Given the description of an element on the screen output the (x, y) to click on. 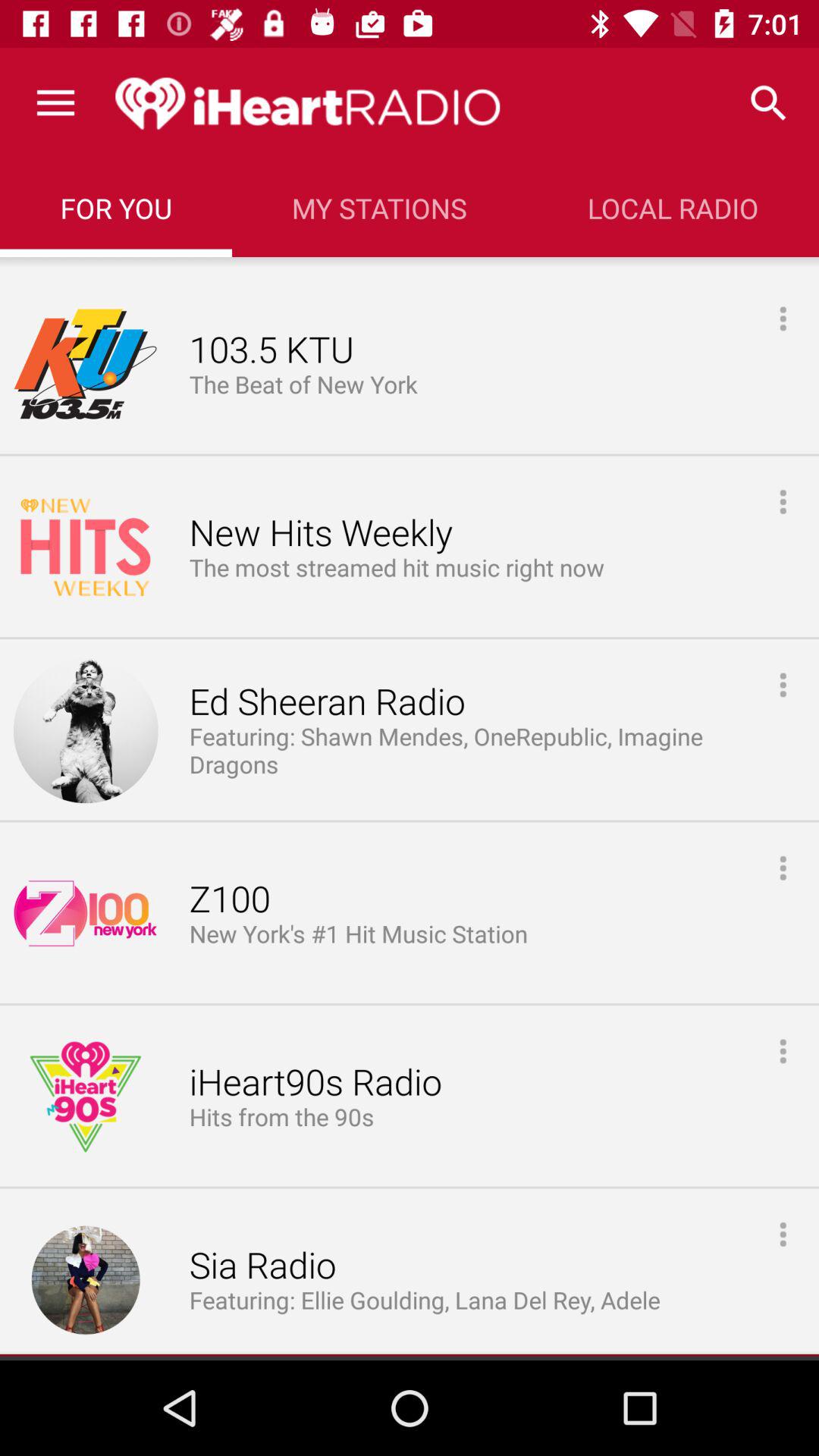
press the 103.5 ktu (271, 350)
